Given the description of an element on the screen output the (x, y) to click on. 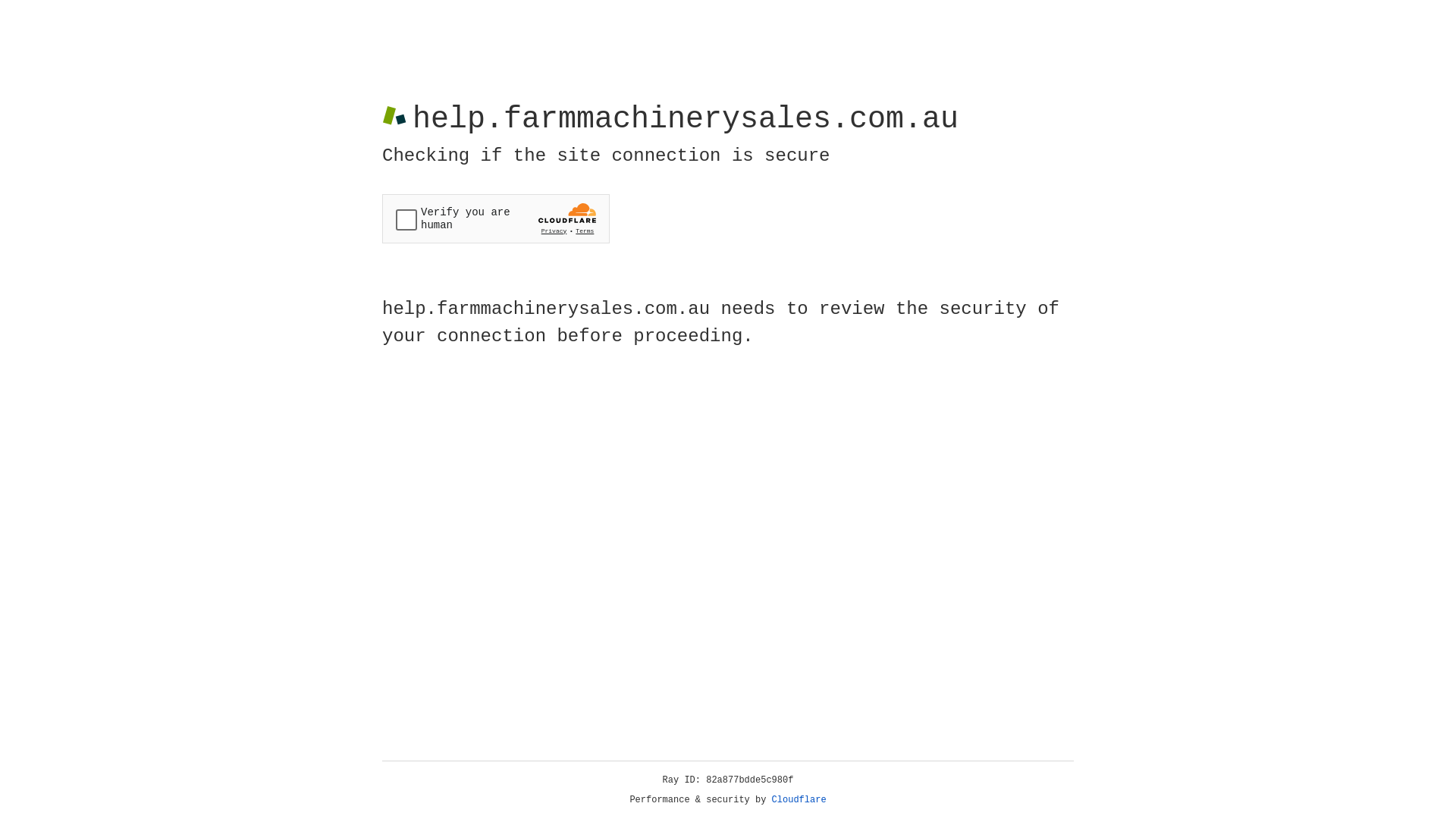
Widget containing a Cloudflare security challenge Element type: hover (495, 218)
Cloudflare Element type: text (798, 799)
